Given the description of an element on the screen output the (x, y) to click on. 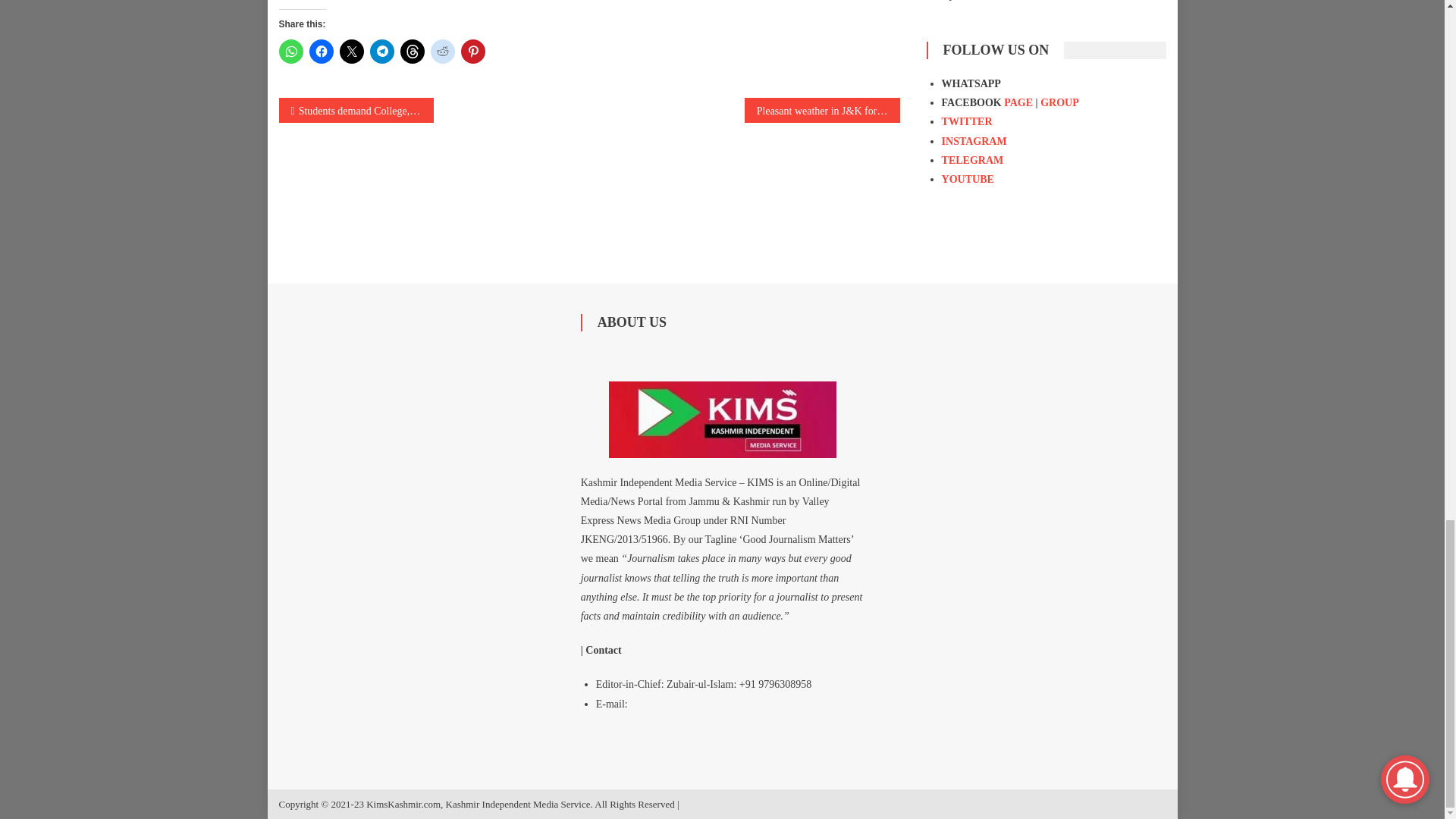
Click to share on X (351, 51)
Click to share on WhatsApp (290, 51)
Click to share on Threads (412, 51)
Click to share on Telegram (381, 51)
Click to share on Facebook (320, 51)
Click to share on Reddit (442, 51)
Click to share on Pinterest (472, 51)
